Given the description of an element on the screen output the (x, y) to click on. 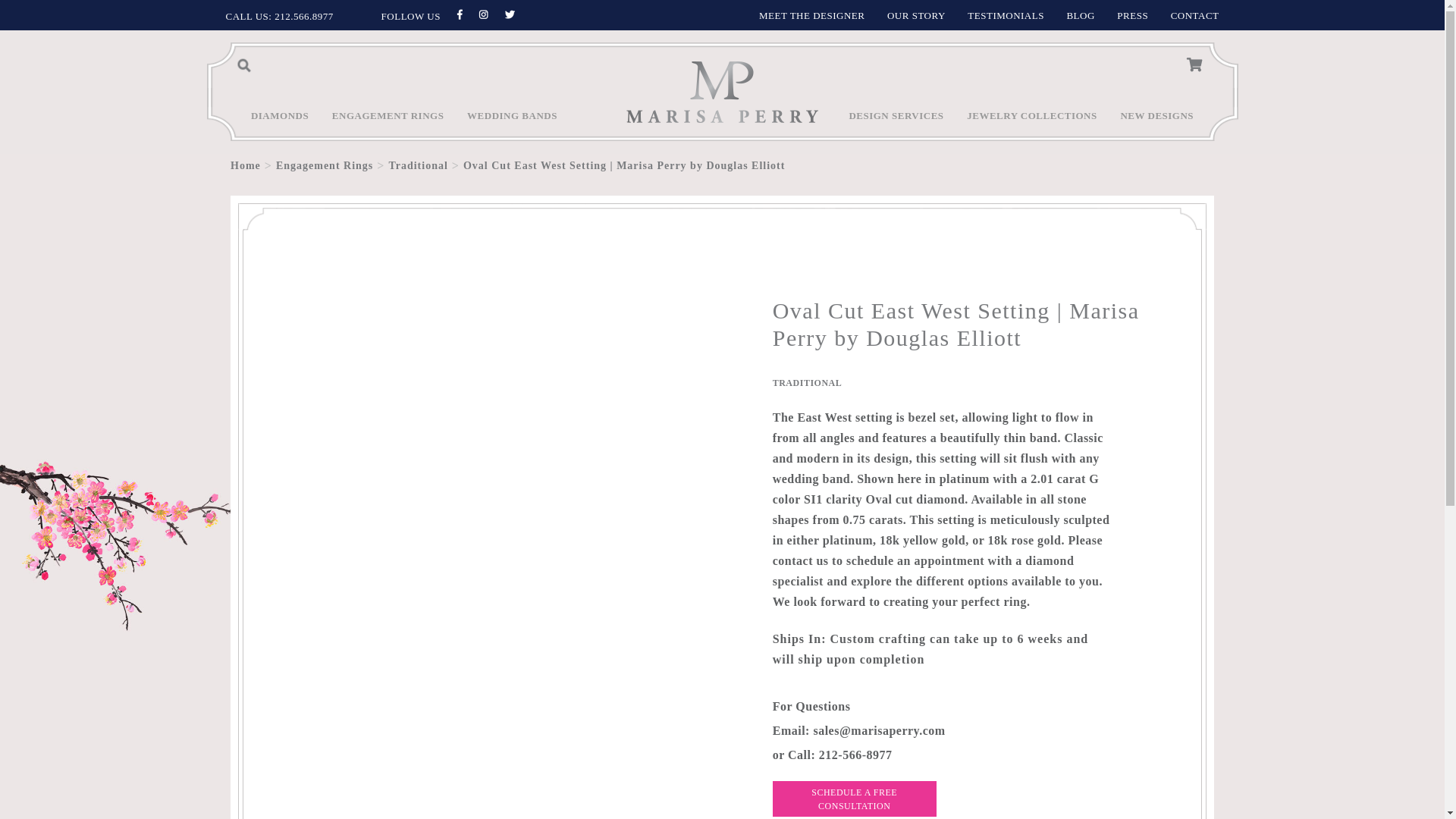
BLOG (1079, 15)
DIAMONDS (279, 122)
OUR STORY (915, 15)
MEET THE DESIGNER (811, 15)
DESIGN SERVICES (895, 122)
CONTACT (1195, 15)
NEW DESIGNS (1156, 122)
PRESS (1132, 15)
WEDDING BANDS (512, 122)
TESTIMONIALS (1005, 15)
